Given the description of an element on the screen output the (x, y) to click on. 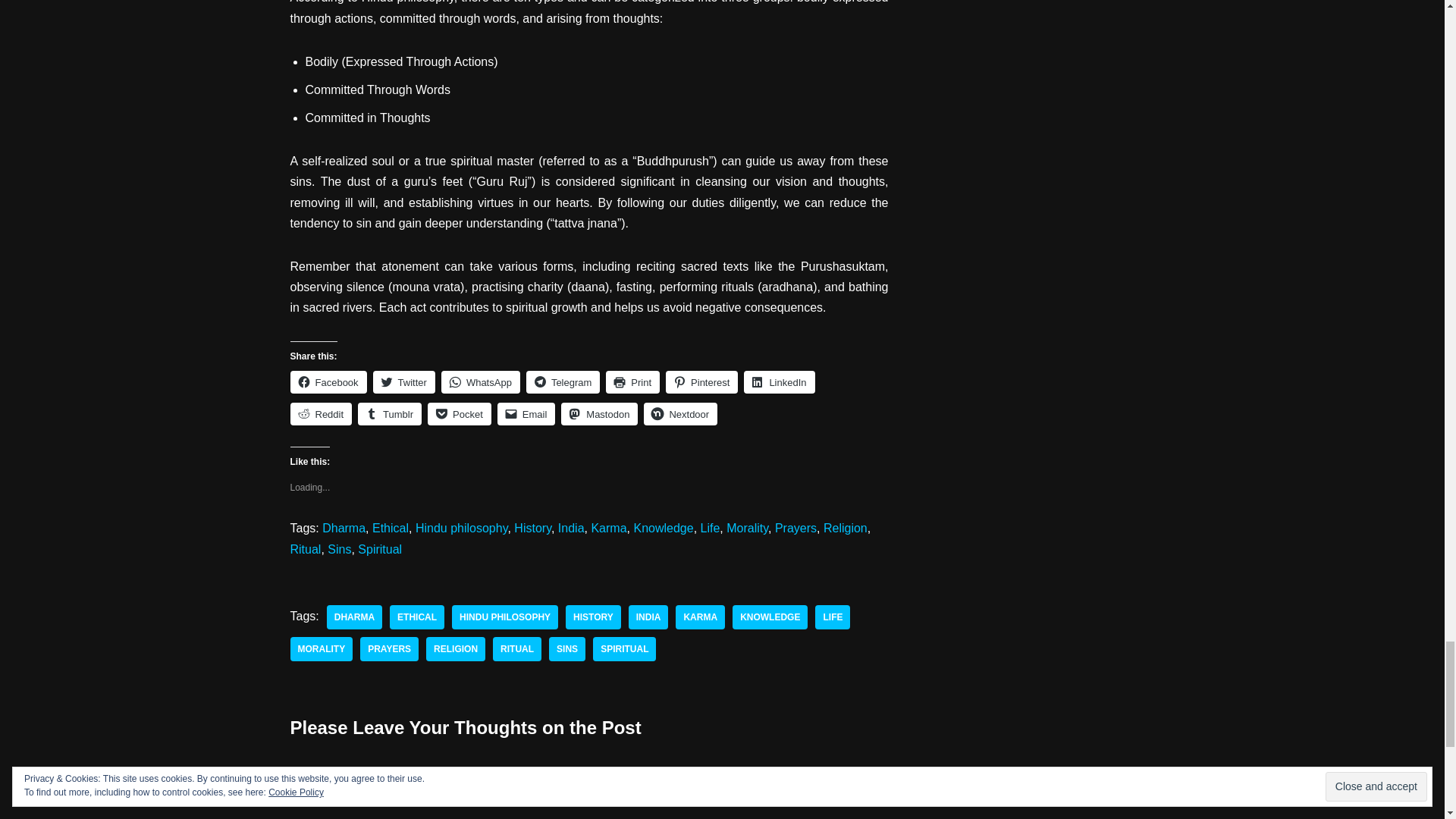
Click to share on Facebook (327, 382)
Click to share on Telegram (562, 382)
Click to share on Twitter (403, 382)
Click to print (632, 382)
Click to share on LinkedIn (778, 382)
Click to share on Reddit (320, 413)
Click to share on Pinterest (701, 382)
Click to share on WhatsApp (480, 382)
